Given the description of an element on the screen output the (x, y) to click on. 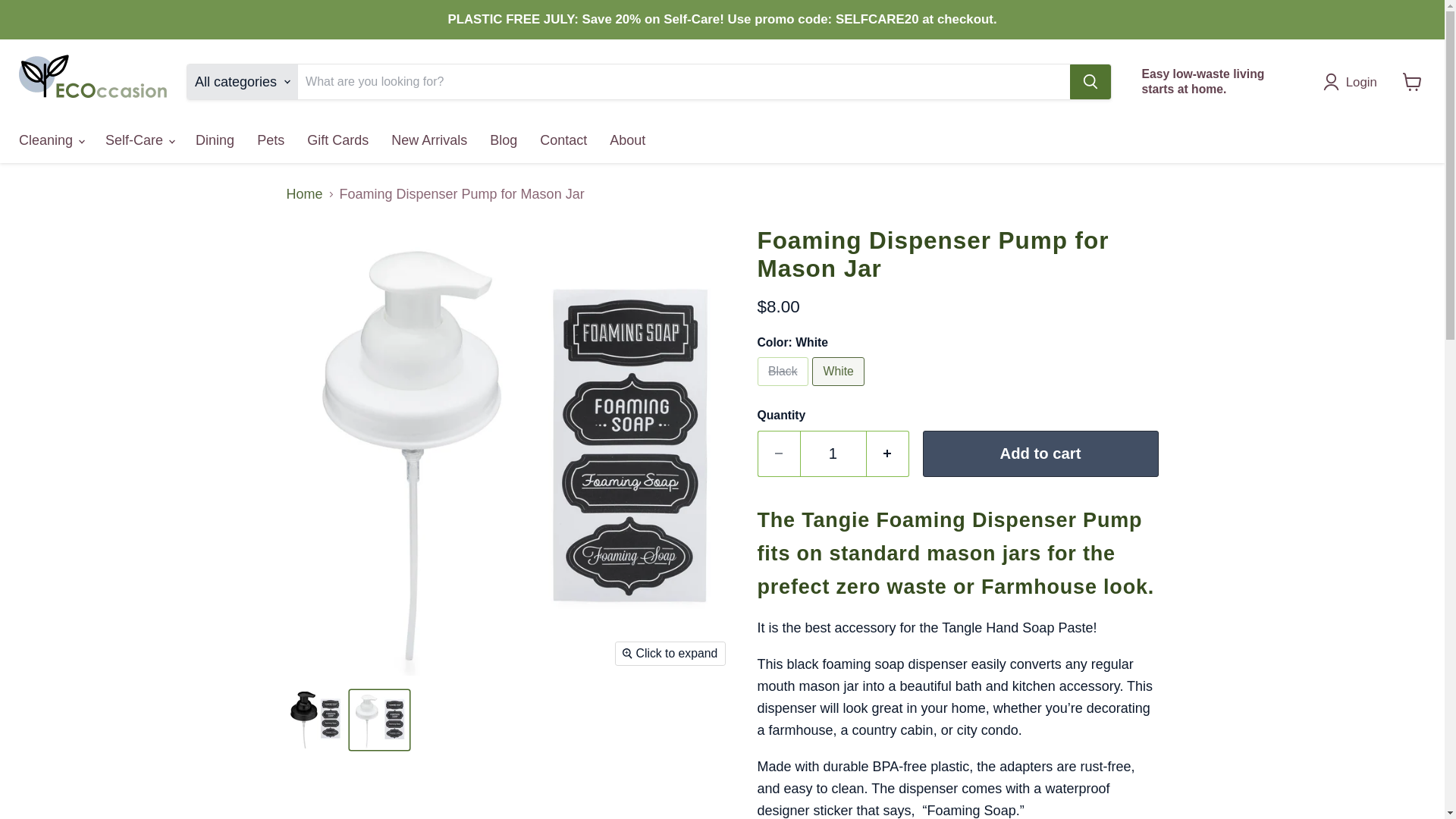
Contact (563, 140)
Gift Cards (337, 140)
Blog (503, 140)
About (627, 140)
Dining (215, 140)
1 (832, 453)
Login (1353, 81)
Pets (270, 140)
New Arrivals (429, 140)
View cart (1411, 81)
